Given the description of an element on the screen output the (x, y) to click on. 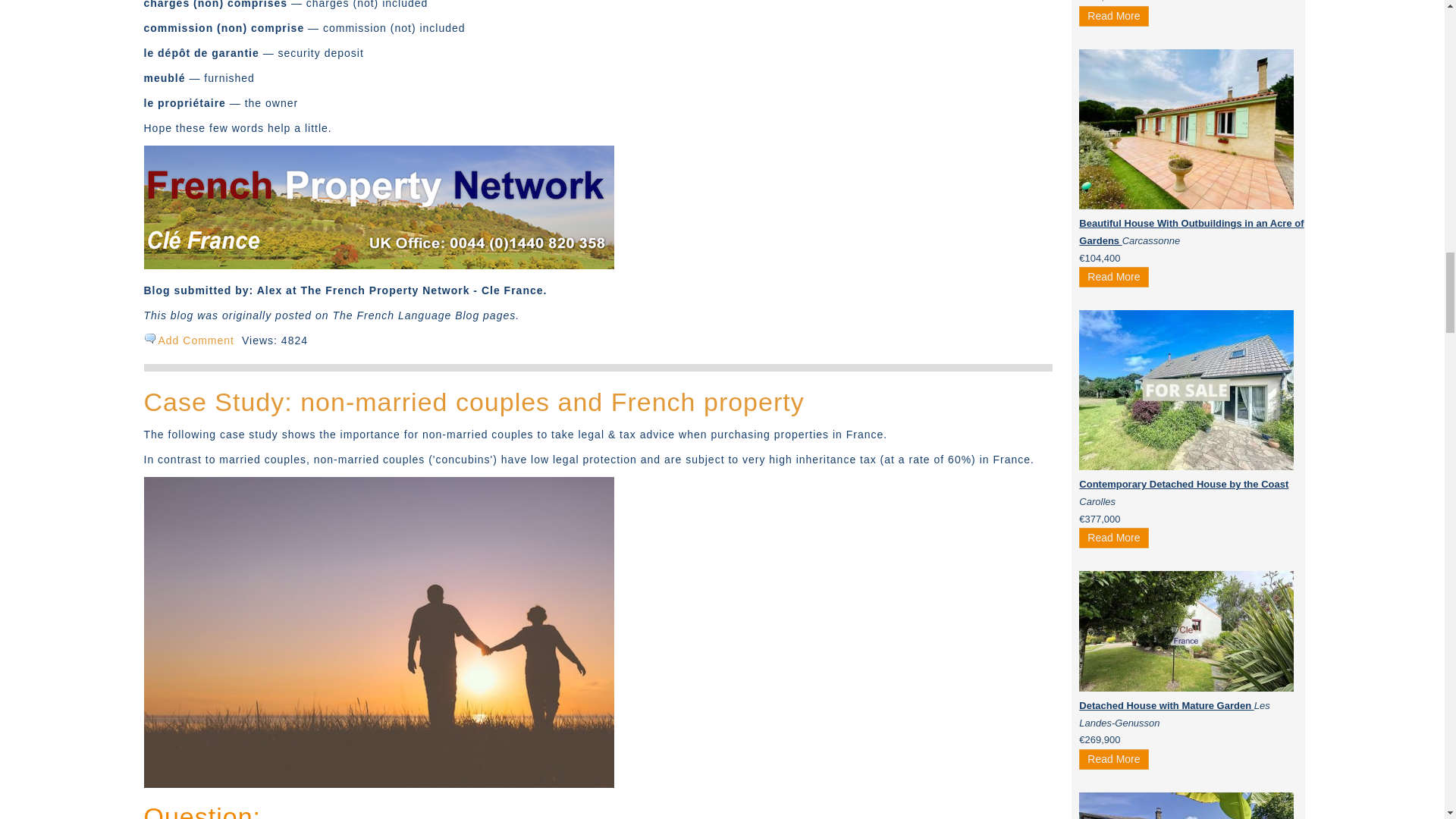
Cle France homepage (379, 265)
Cle France Blogs (379, 784)
